Given the description of an element on the screen output the (x, y) to click on. 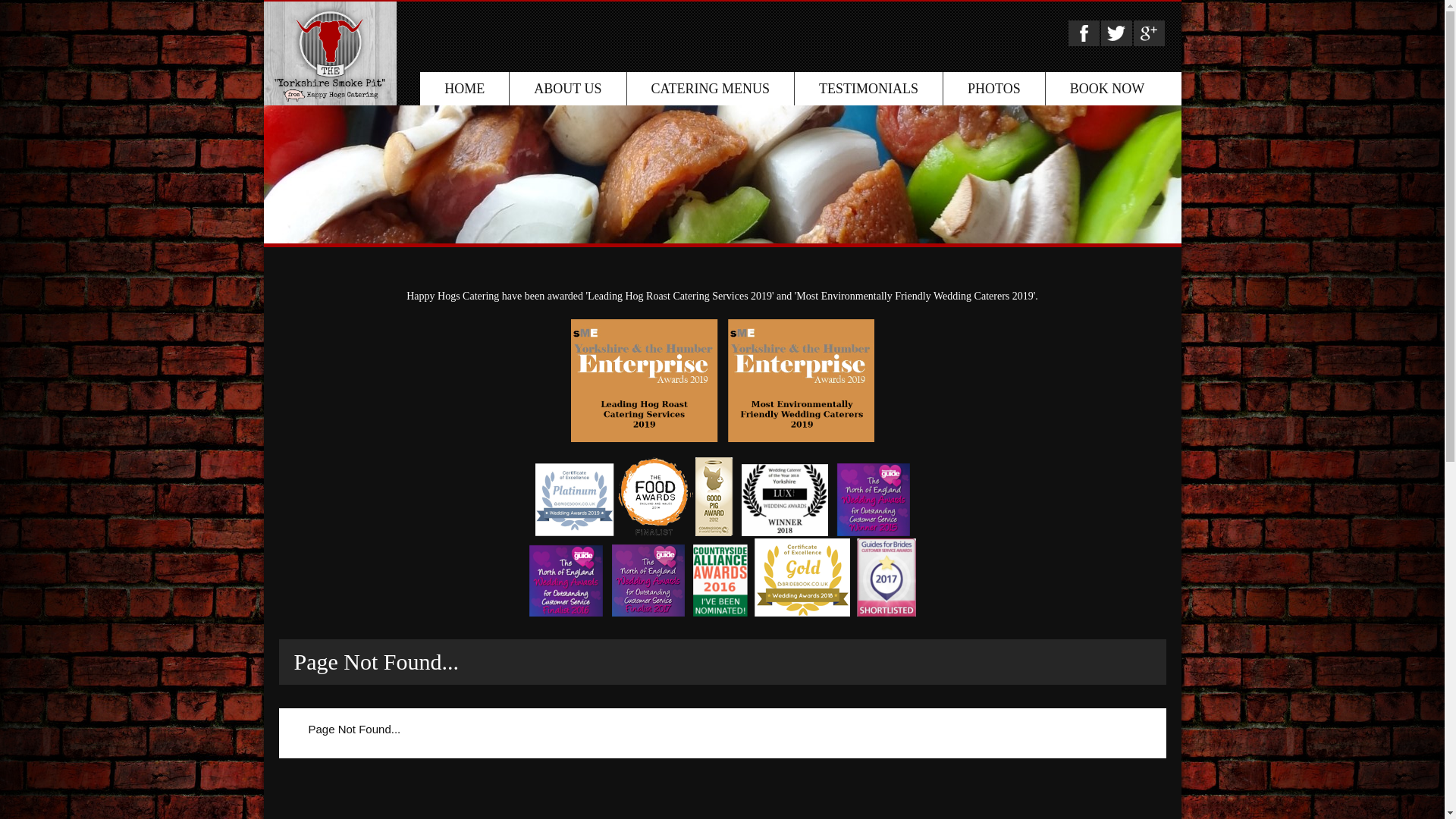
HOME Element type: text (464, 88)
PHOTOS Element type: text (993, 88)
Google Plus Element type: text (1148, 33)
Facebook Element type: text (1083, 33)
TESTIMONIALS Element type: text (868, 88)
BOOK NOW Element type: text (1107, 88)
ABOUT US Element type: text (567, 88)
Yorkshire Barbecue Catering Element type: hover (329, 53)
CATERING MENUS Element type: text (710, 88)
Twitter Element type: text (1116, 33)
